Given the description of an element on the screen output the (x, y) to click on. 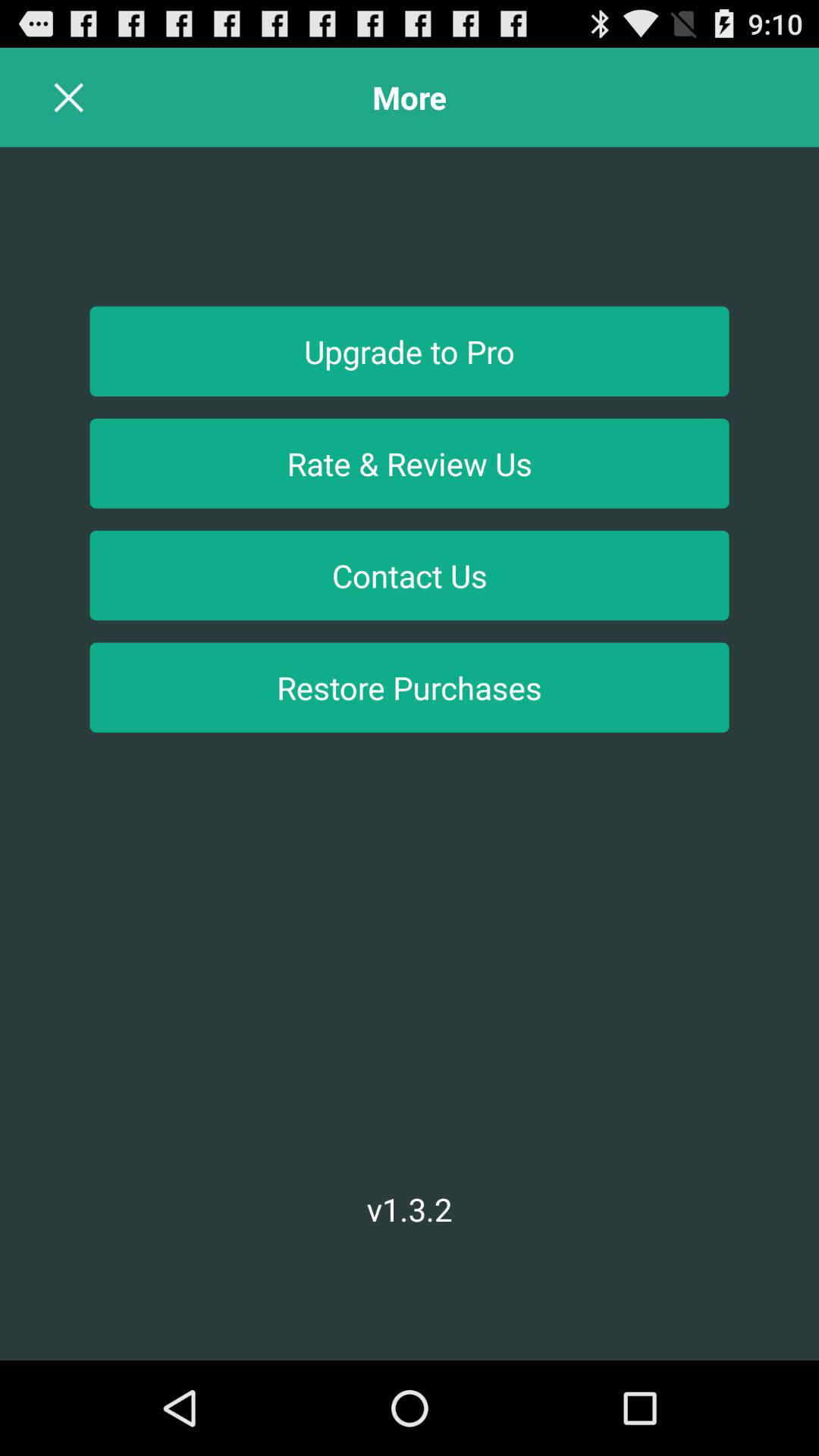
press button above rate & review us item (409, 351)
